Given the description of an element on the screen output the (x, y) to click on. 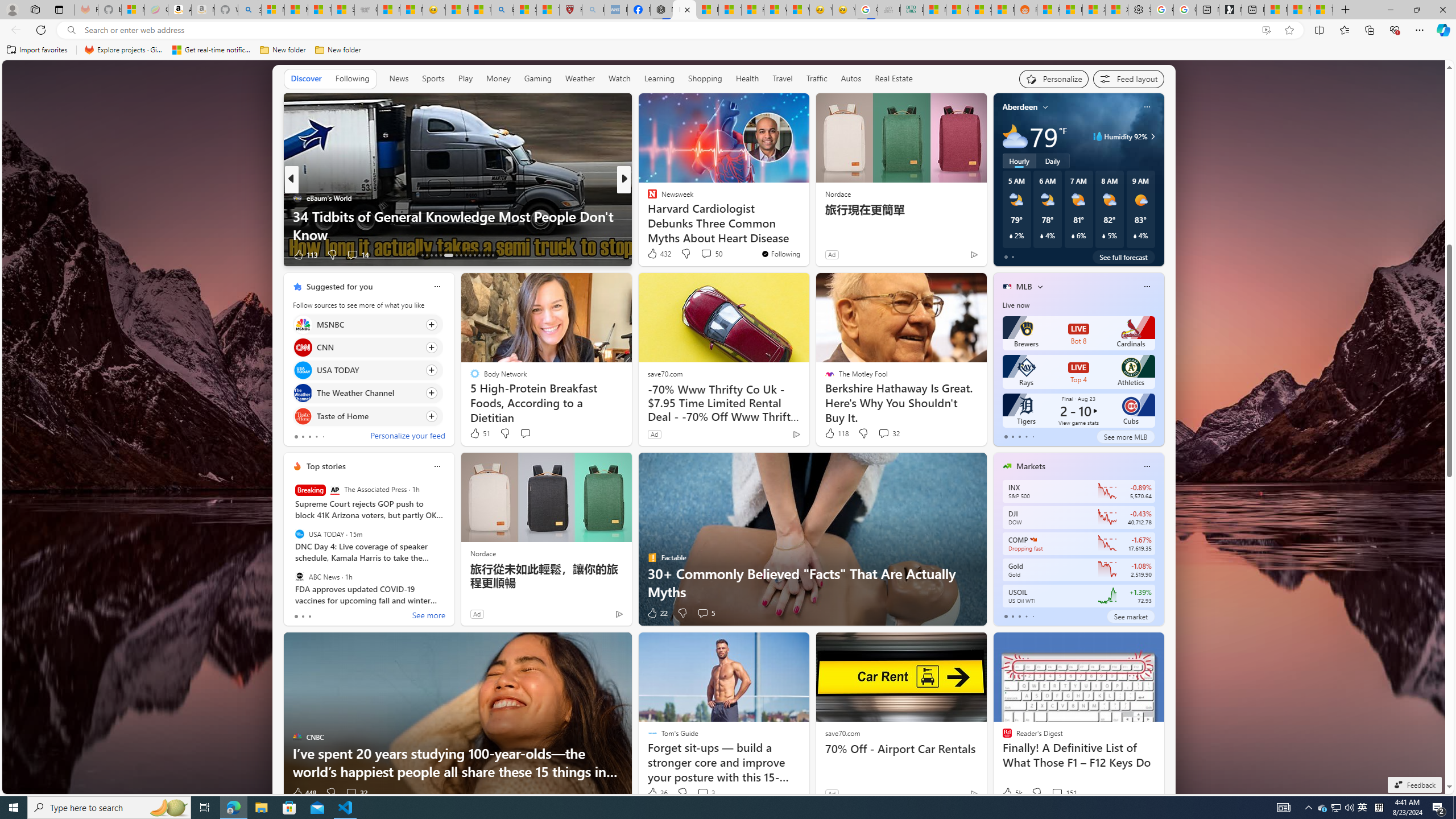
Click to follow source USA TODAY (367, 370)
Weather (579, 78)
Recipes - MSN (457, 9)
AutomationID: tab-70 (440, 255)
AutomationID: tab-78 (483, 255)
Suggested for you (338, 286)
Learning (659, 79)
Navy Quest (889, 9)
Watch (619, 79)
Nordace (483, 552)
448 Like (303, 792)
